Given the description of an element on the screen output the (x, y) to click on. 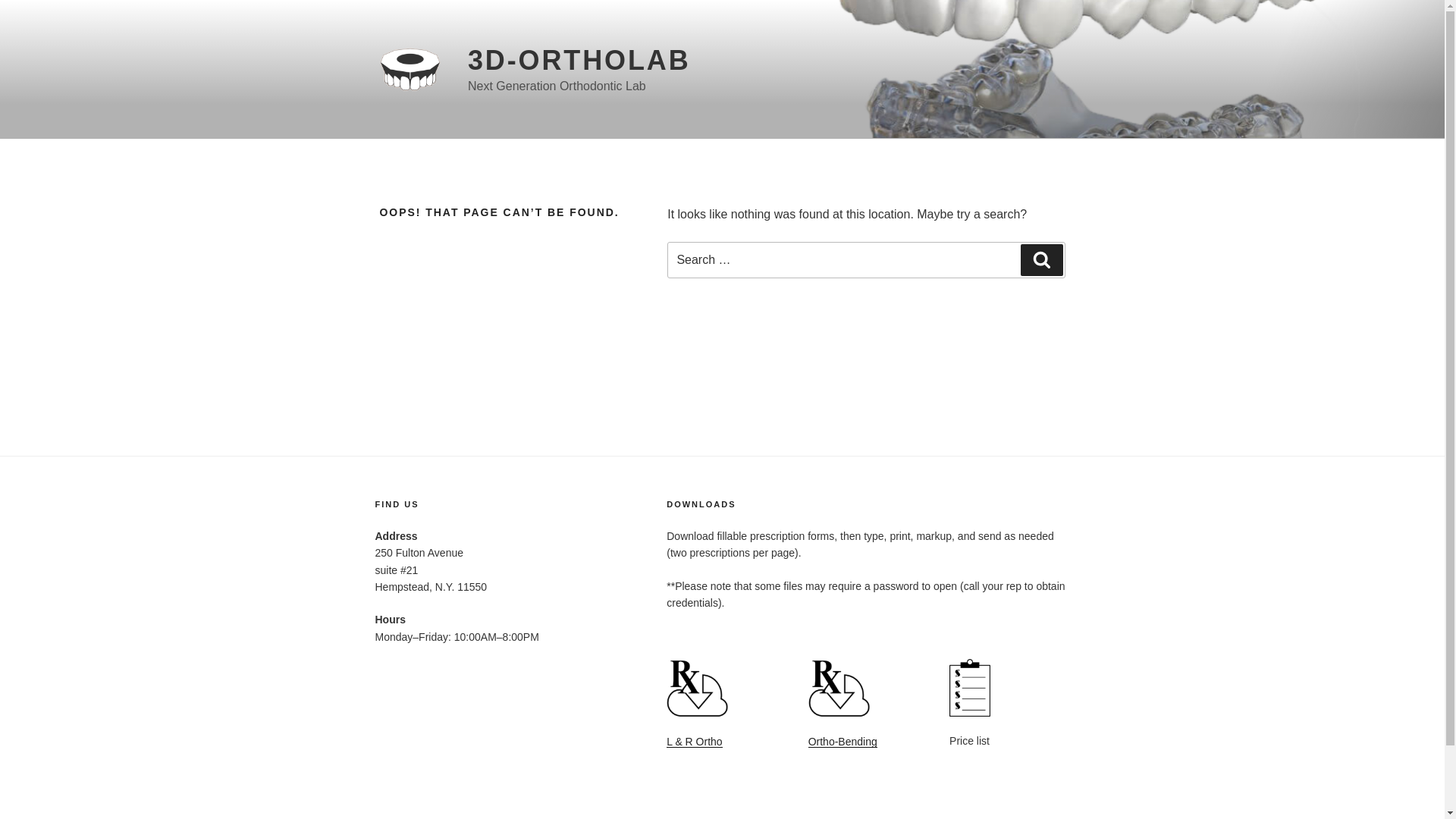
Ortho-Bending Element type: text (842, 741)
L & R Ortho Element type: text (693, 741)
3D-ORTHOLAB Element type: text (578, 59)
Search Element type: text (1041, 260)
